Given the description of an element on the screen output the (x, y) to click on. 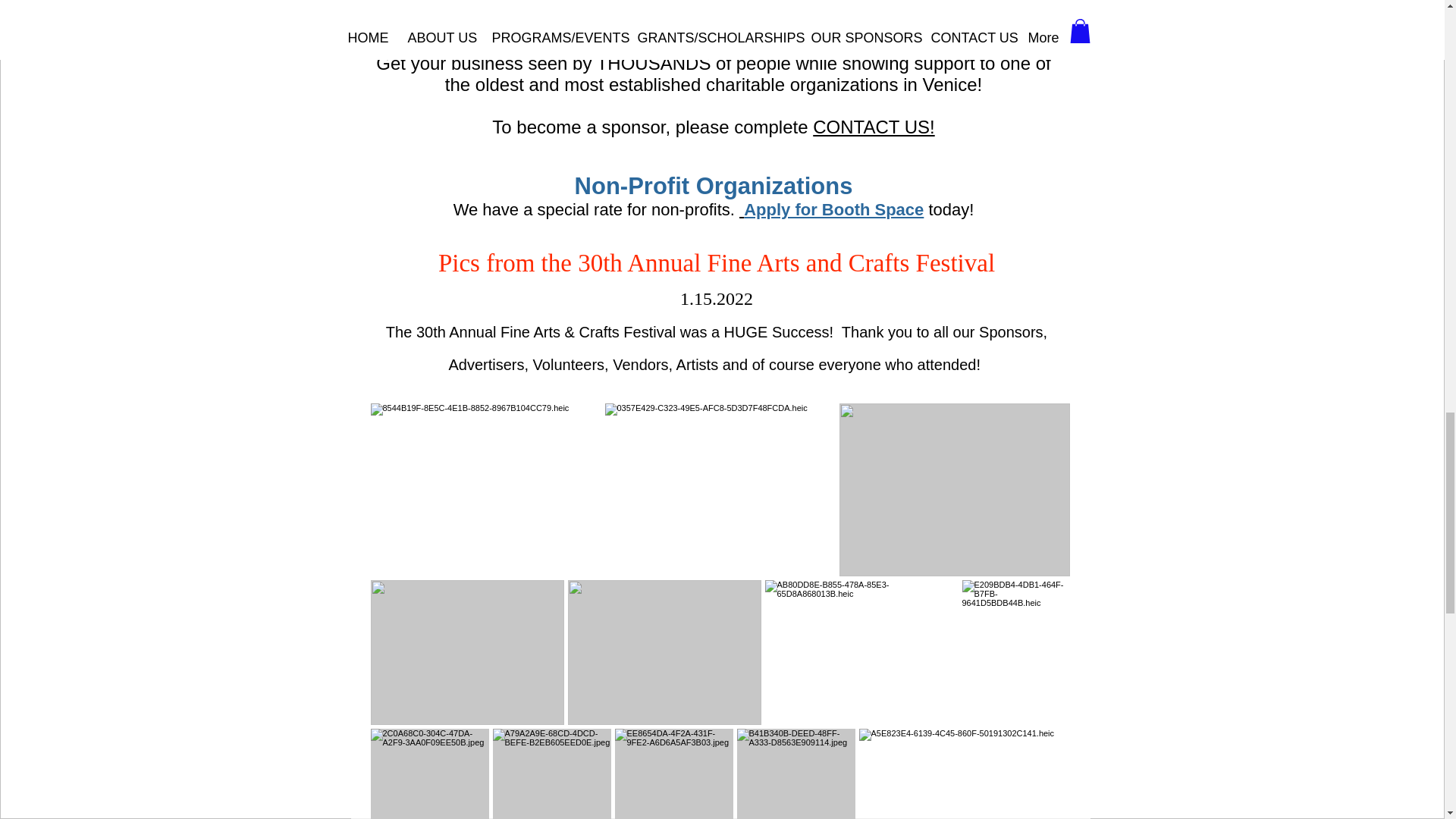
CONTACT US! (873, 127)
 Apply for Booth Space (831, 209)
